Given the description of an element on the screen output the (x, y) to click on. 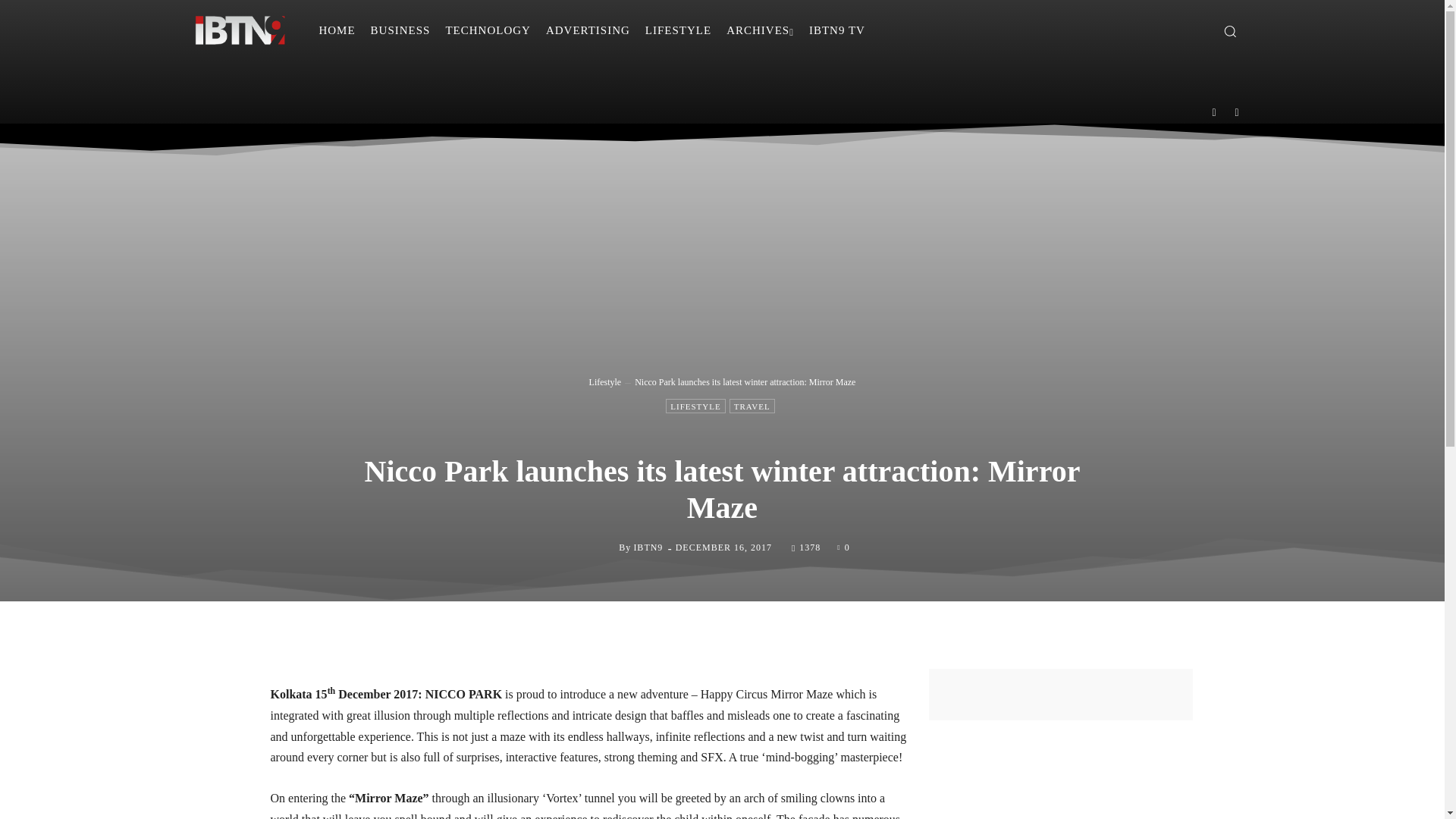
IBTN9 (606, 547)
View all posts in Lifestyle (605, 381)
0 (842, 546)
ADVERTISING (587, 30)
Instagram (1237, 111)
LIFESTYLE (695, 405)
Facebook (1214, 111)
LIFESTYLE (678, 30)
IBTN9 (647, 547)
BUSINESS (400, 30)
TECHNOLOGY (488, 30)
IBTN9 TV (837, 30)
HOME (336, 30)
TRAVEL (751, 405)
ARCHIVES (760, 30)
